Given the description of an element on the screen output the (x, y) to click on. 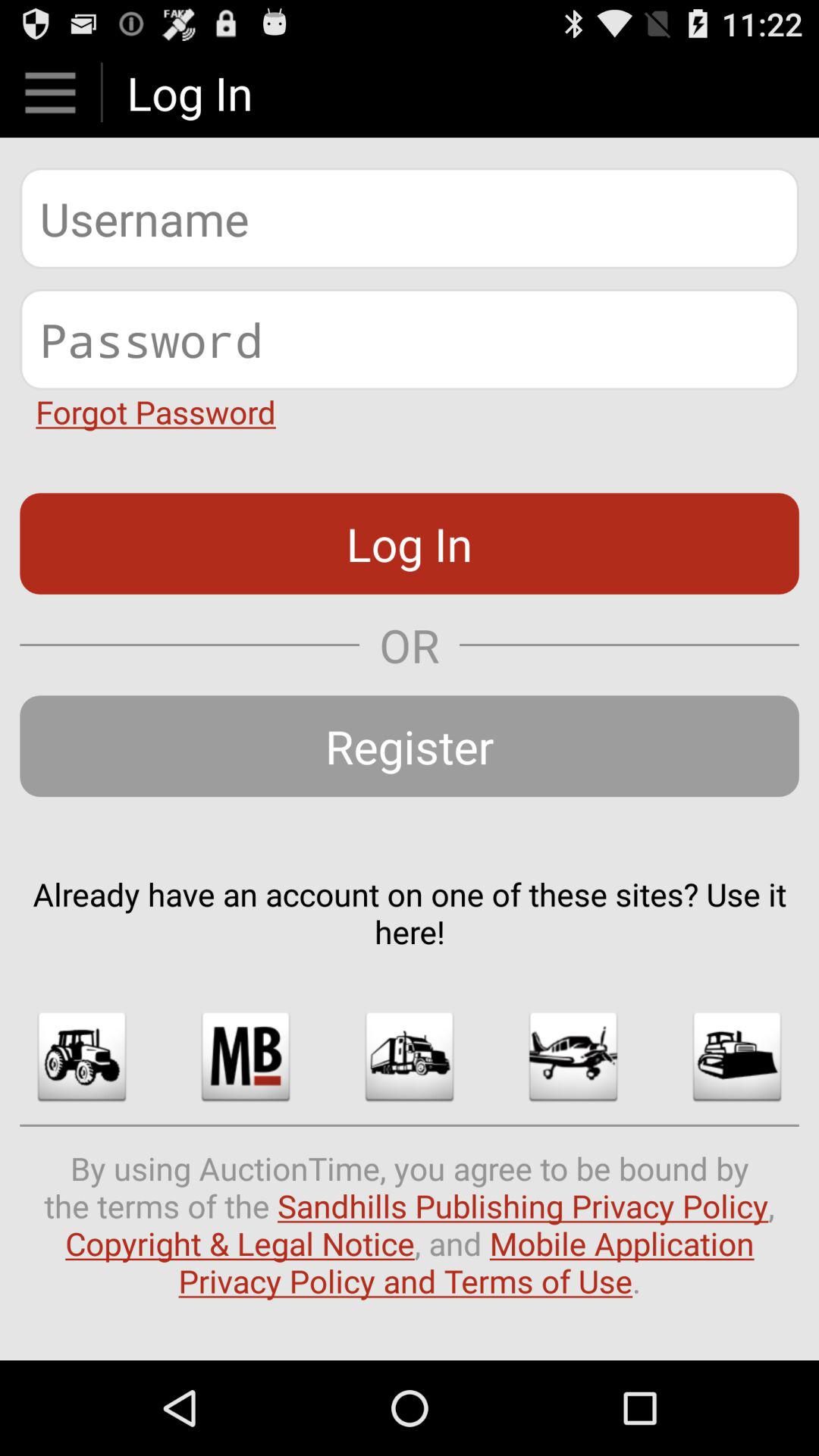
toggle image option (573, 1056)
